Given the description of an element on the screen output the (x, y) to click on. 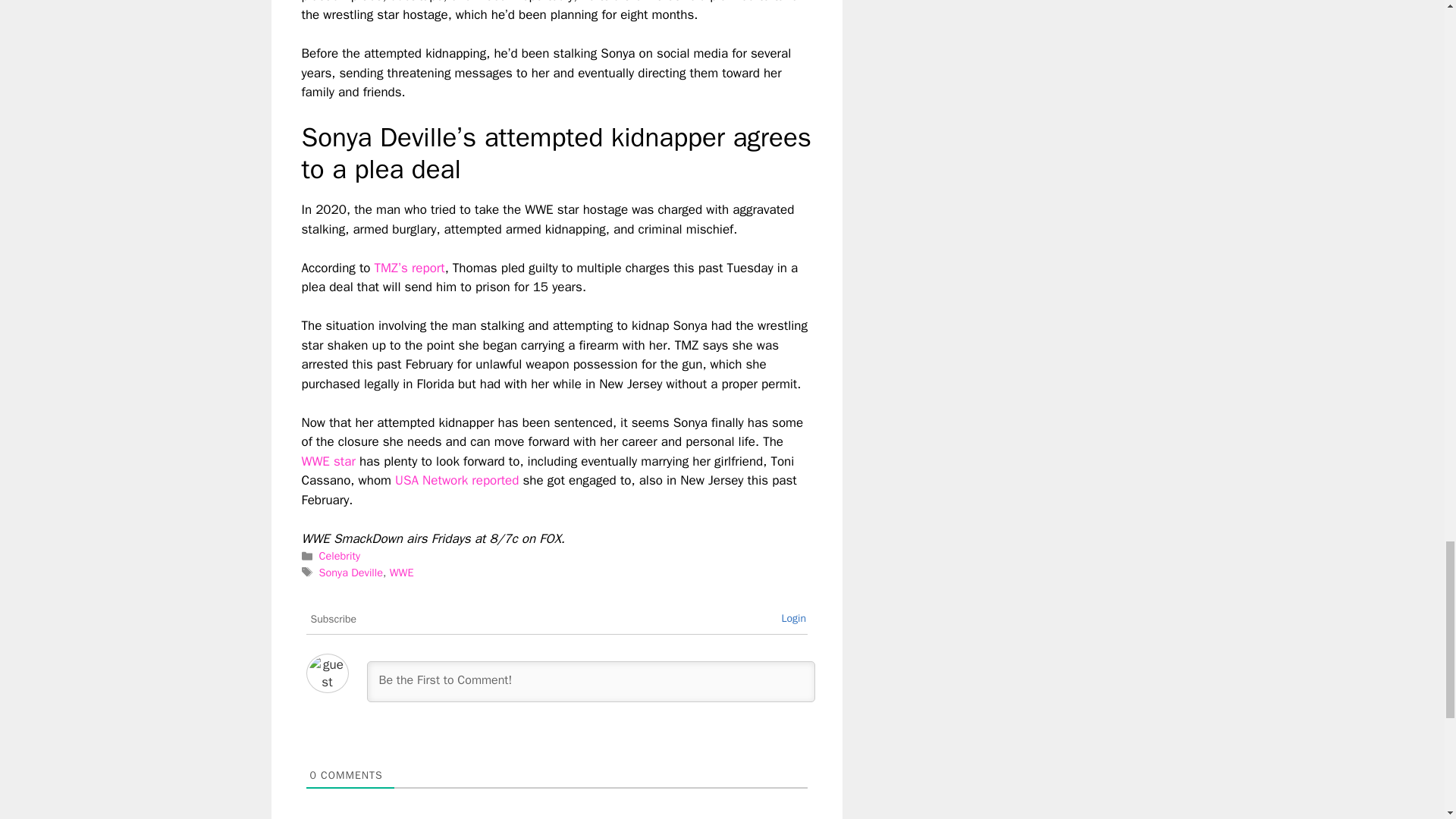
WWE star (328, 461)
USA Network reported (456, 480)
Sonya Deville (350, 572)
Login (793, 617)
Celebrity (338, 555)
WWE (401, 572)
